Given the description of an element on the screen output the (x, y) to click on. 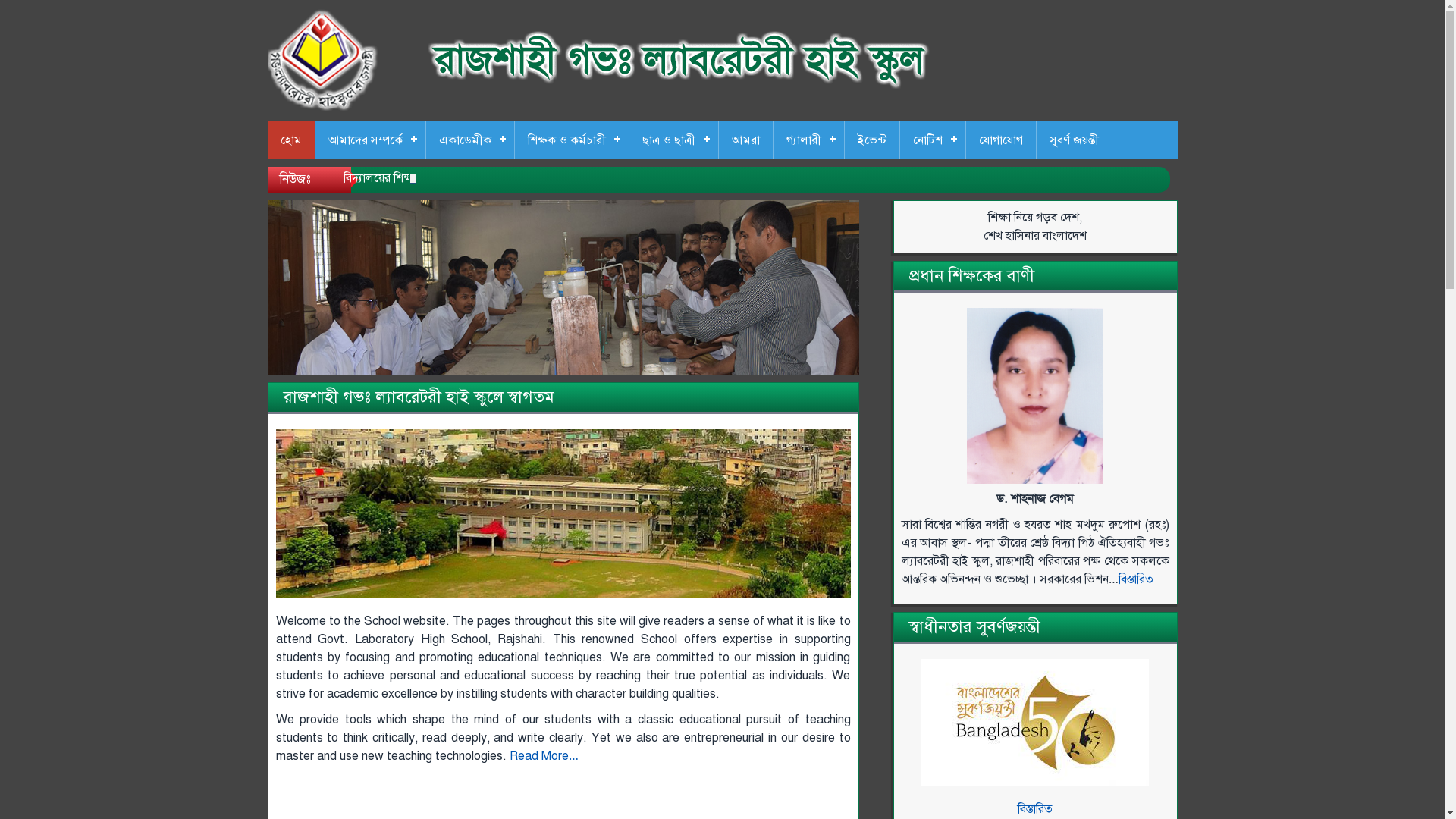
minecraft download pc Element type: text (406, 781)
  Ativador Windows Element type: text (562, 799)
noteburner itunes audio converter Element type: text (735, 781)
tekken 3 game download for pc Element type: text (414, 799)
The Zalo PC Element type: text (563, 790)
Download Crackeado Software Element type: text (556, 781)
bitdefender crack  Element type: text (677, 799)
snaptube pc Element type: text (309, 781)
